Given the description of an element on the screen output the (x, y) to click on. 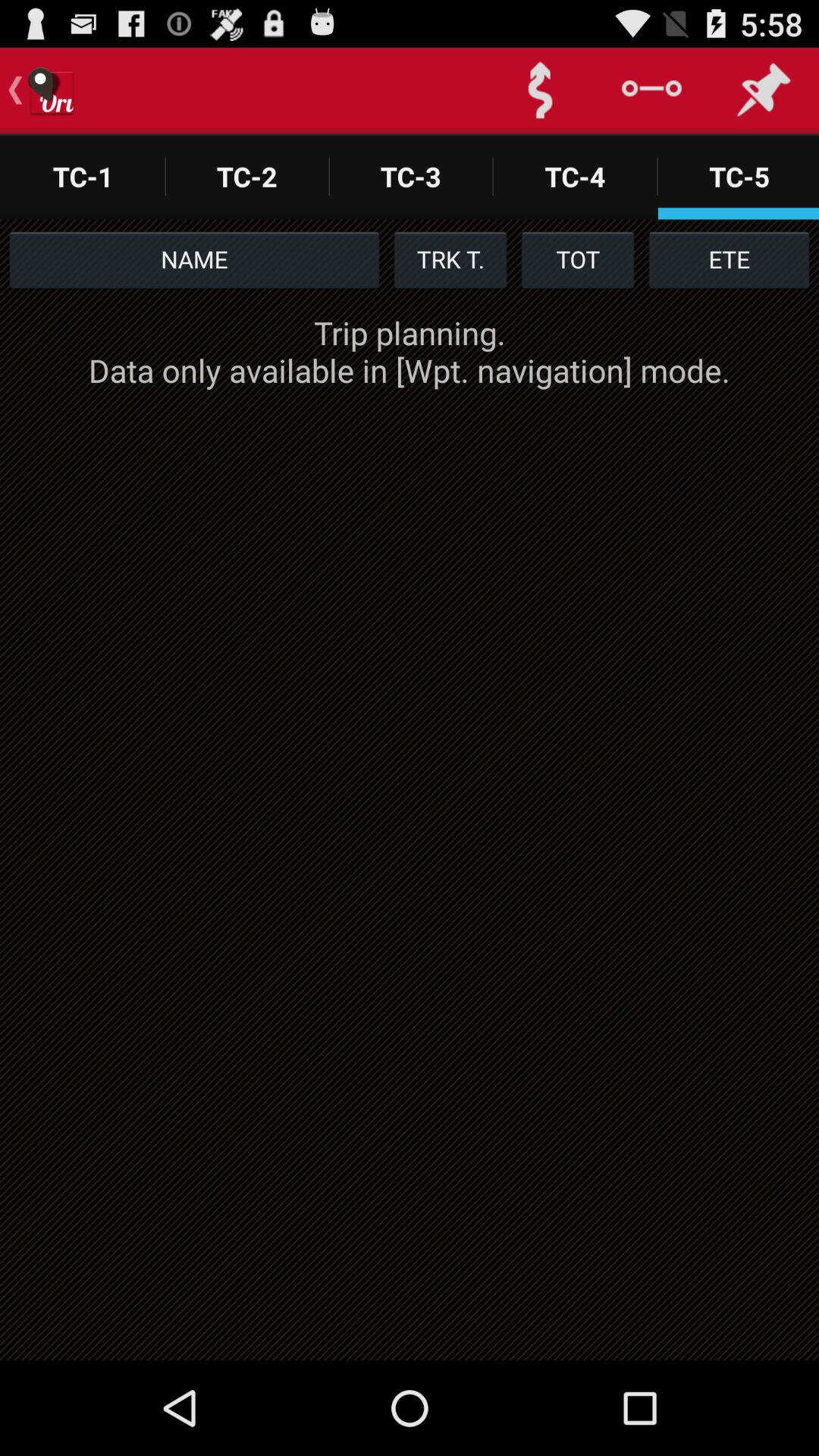
turn off item above tc-4 (540, 90)
